Given the description of an element on the screen output the (x, y) to click on. 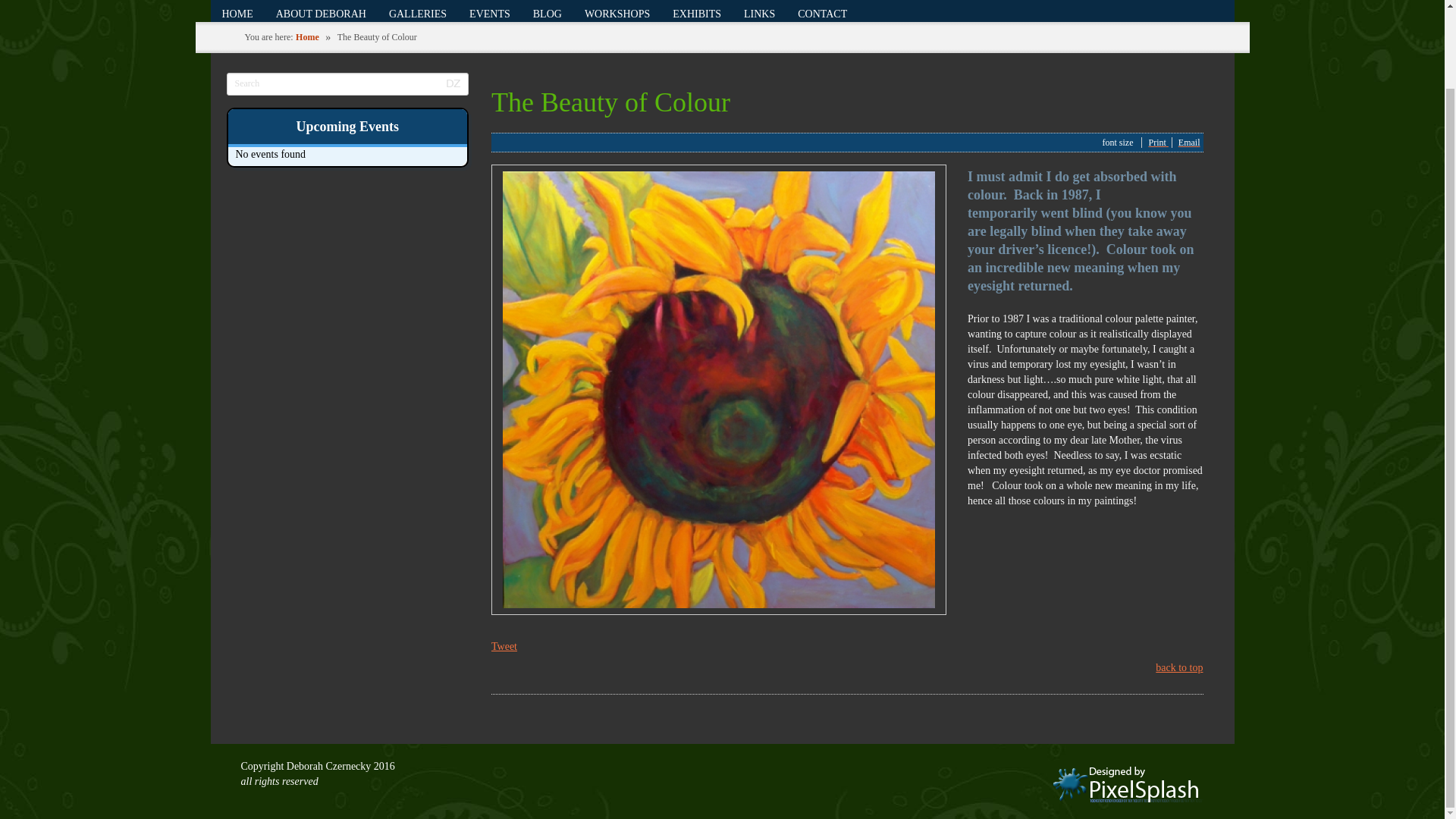
ABOUT DEBORAH (320, 12)
EVENTS (489, 12)
Home (306, 36)
Tweet (504, 645)
Email (1188, 142)
LINKS (759, 12)
Print (1157, 142)
back to top (1179, 667)
HOME (237, 12)
CONTACT (822, 12)
GALLERIES (417, 12)
EXHIBITS (696, 12)
BLOG (547, 12)
WORKSHOPS (617, 12)
